Given the description of an element on the screen output the (x, y) to click on. 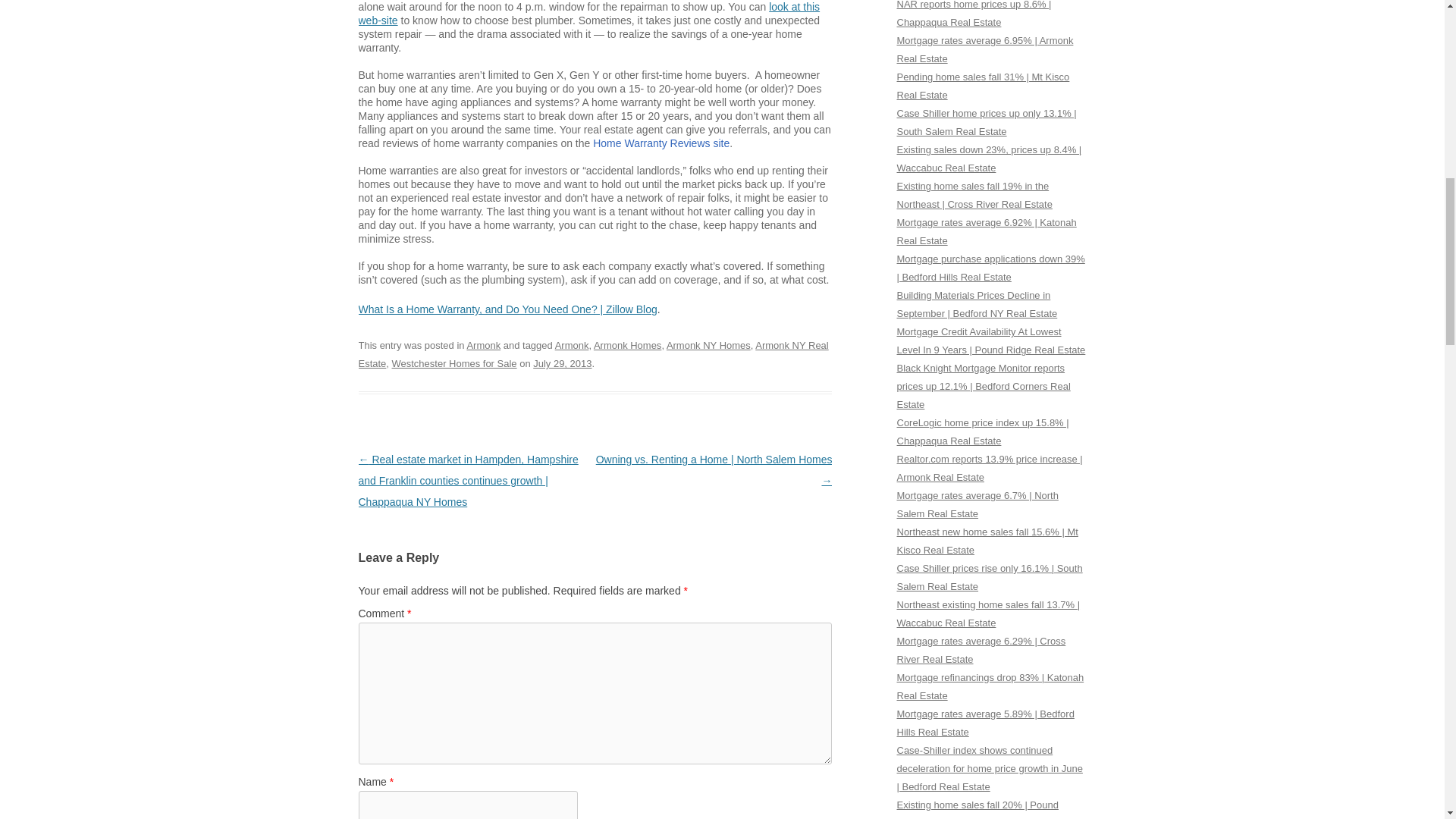
look at this web-site (588, 13)
Armonk NY Homes (708, 345)
Home Warranty Reviews site (660, 143)
Armonk (571, 345)
Armonk (482, 345)
5:58 am (561, 363)
Armonk Homes (627, 345)
